Given the description of an element on the screen output the (x, y) to click on. 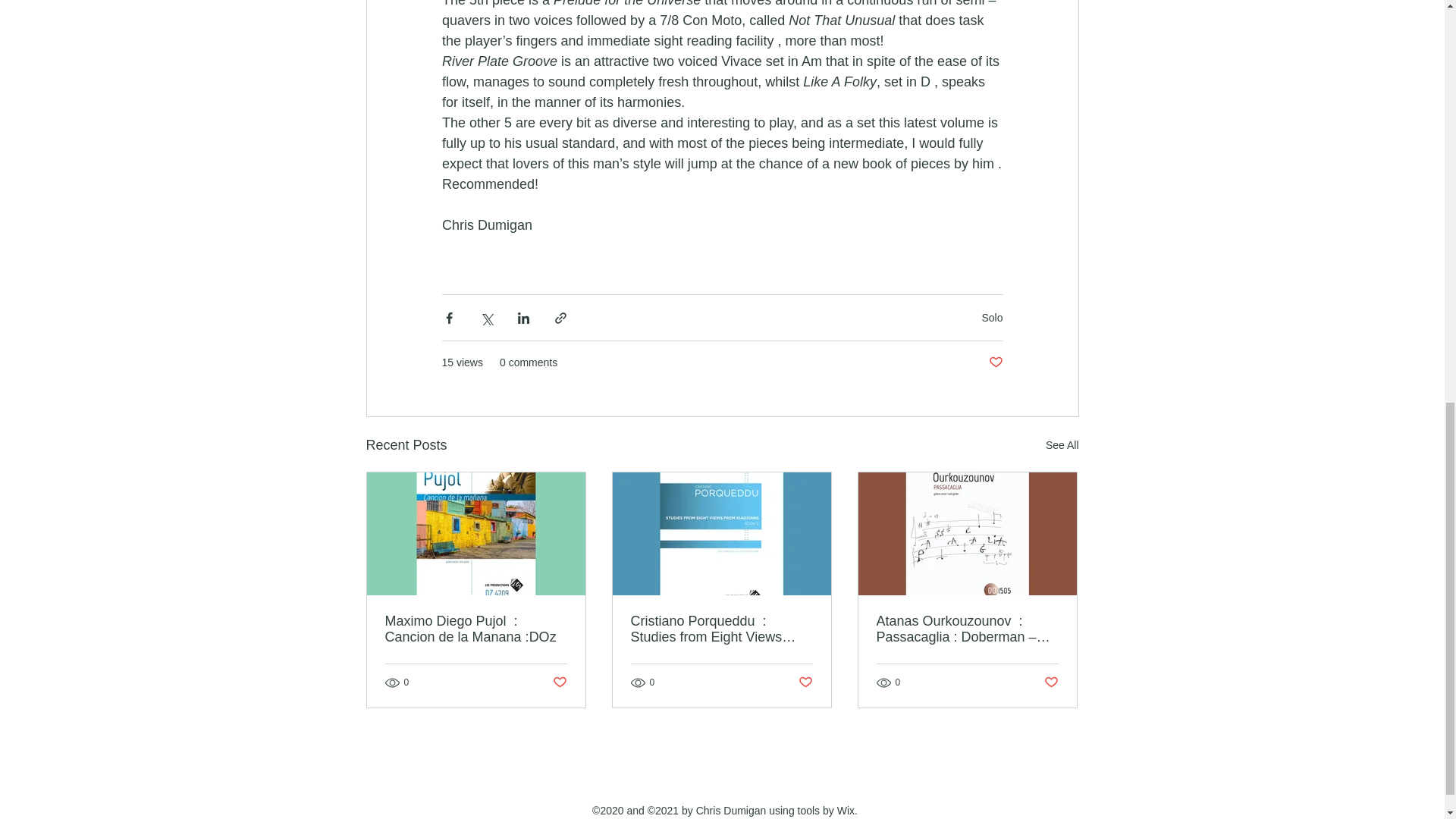
Solo (992, 316)
